Given the description of an element on the screen output the (x, y) to click on. 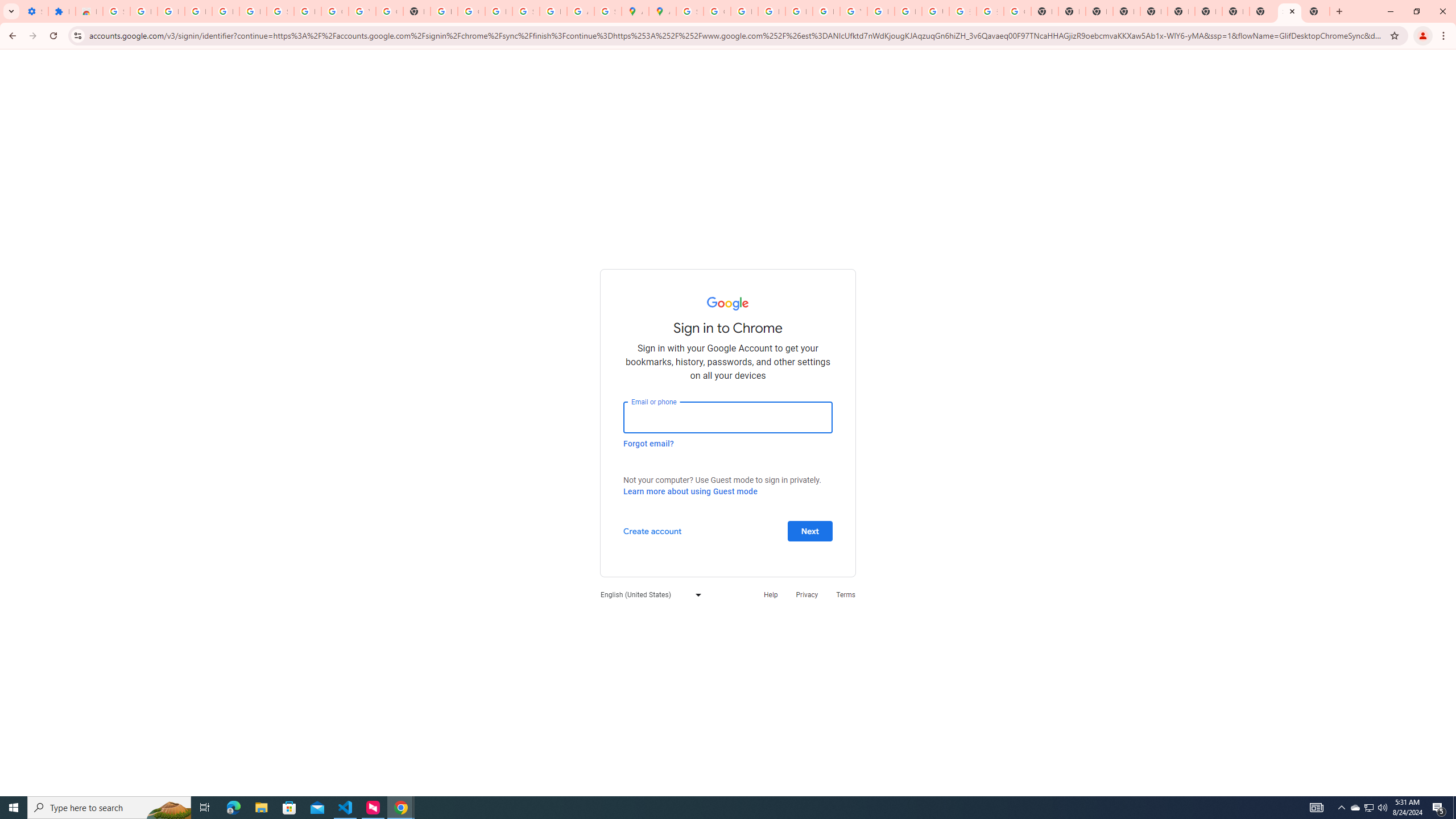
English (United States) (647, 594)
Privacy Help Center - Policies Help (743, 11)
Learn more about using Guest mode (689, 491)
Reviews: Helix Fruit Jump Arcade Game (88, 11)
Sign in - Google Accounts (690, 11)
